Given the description of an element on the screen output the (x, y) to click on. 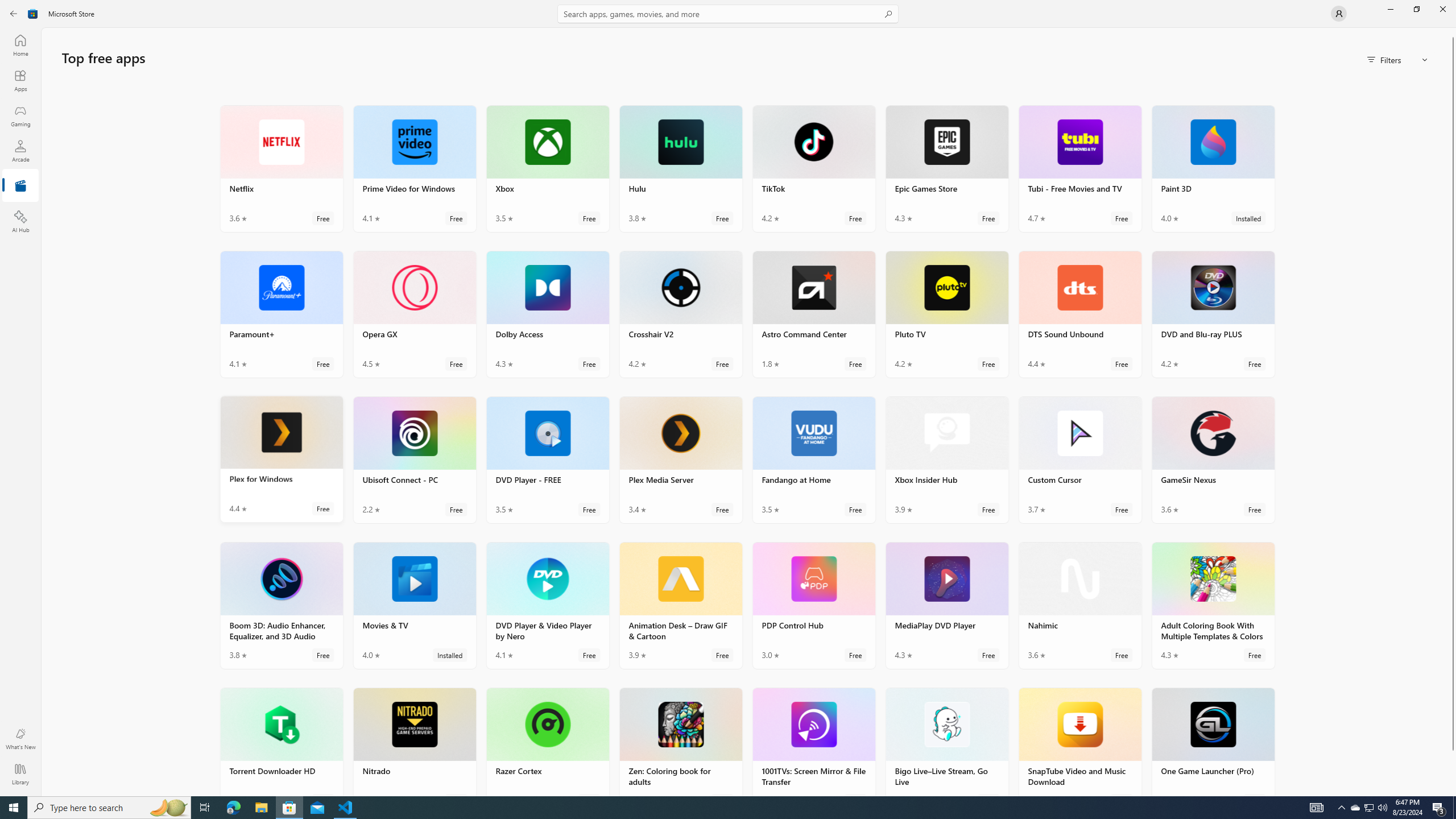
Vertical Small Decrease (1452, 31)
